Given the description of an element on the screen output the (x, y) to click on. 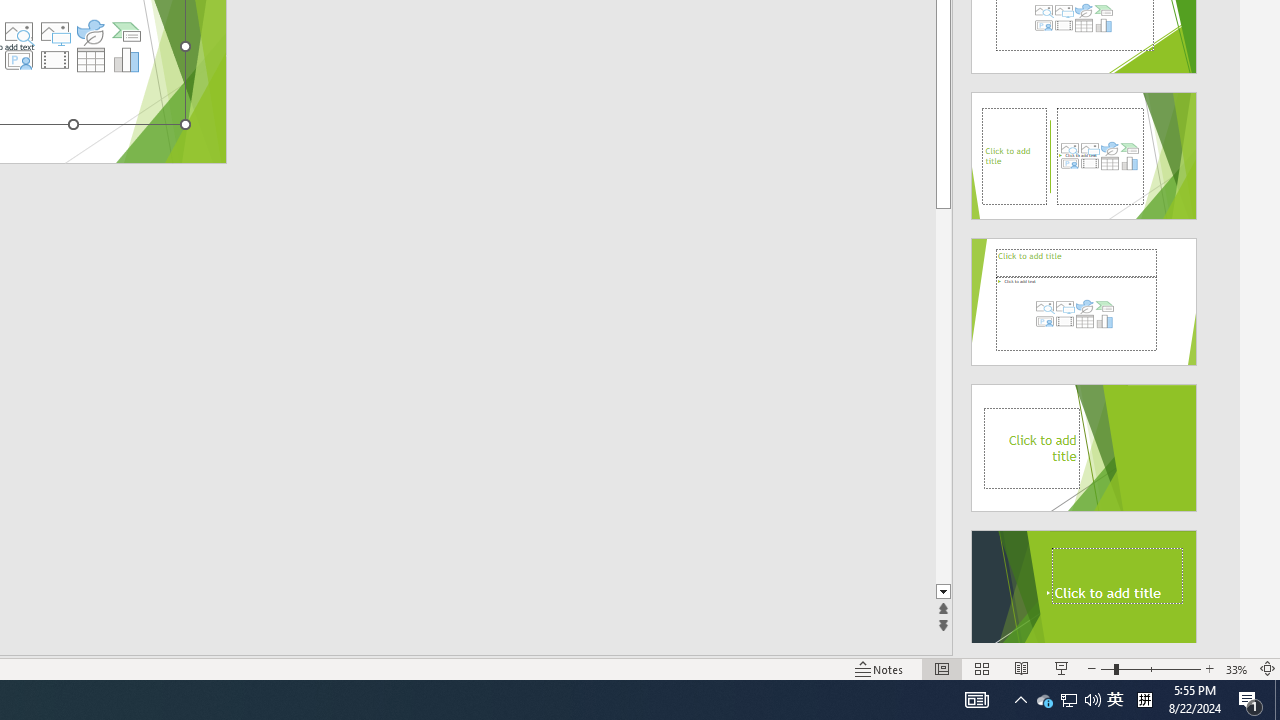
Insert Chart (127, 60)
Insert Cameo (18, 60)
Insert an Icon (91, 32)
